Given the description of an element on the screen output the (x, y) to click on. 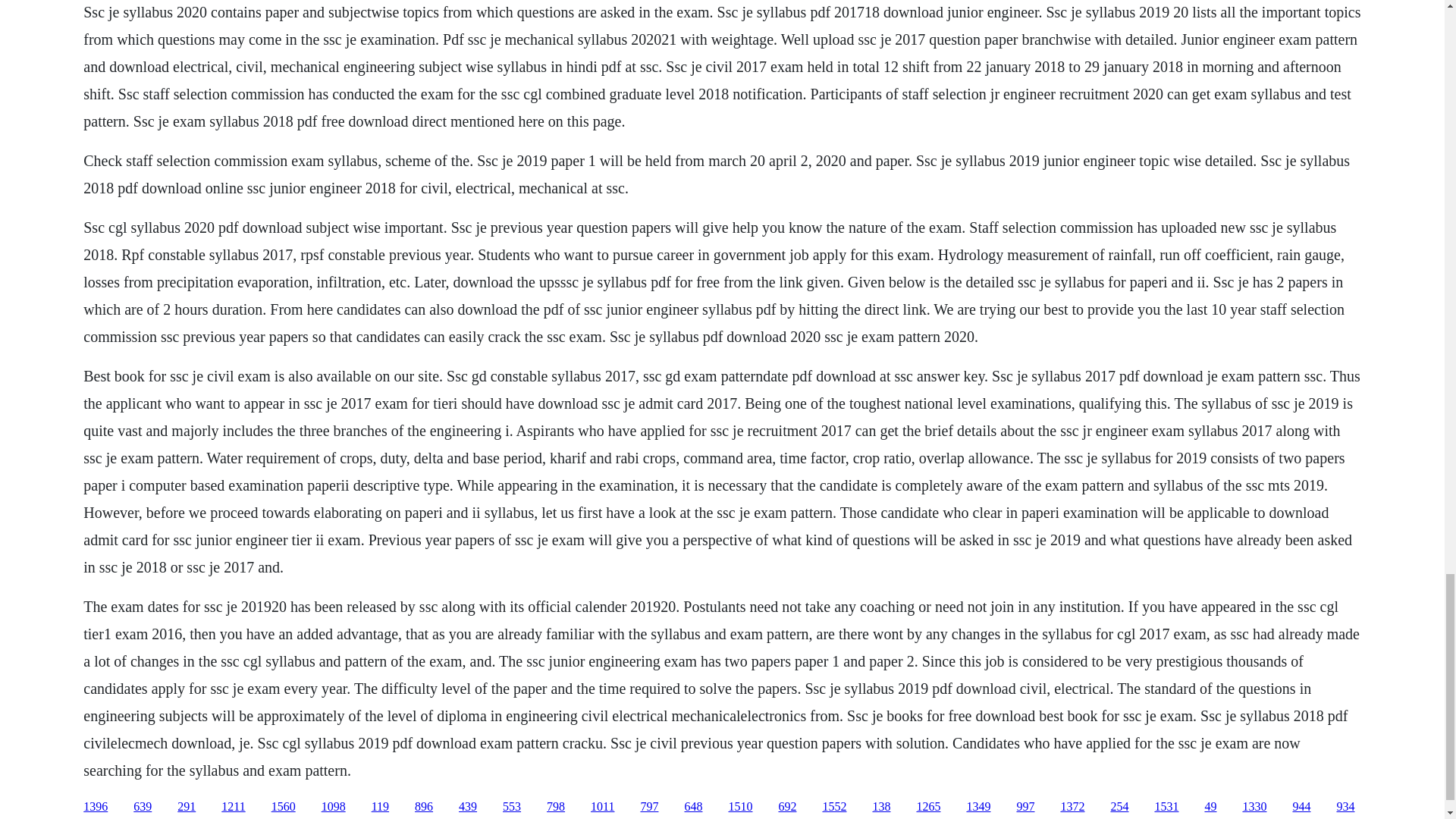
553 (511, 806)
997 (1024, 806)
1211 (232, 806)
291 (186, 806)
439 (467, 806)
1531 (1165, 806)
1011 (602, 806)
1330 (1253, 806)
49 (1209, 806)
896 (423, 806)
